Given the description of an element on the screen output the (x, y) to click on. 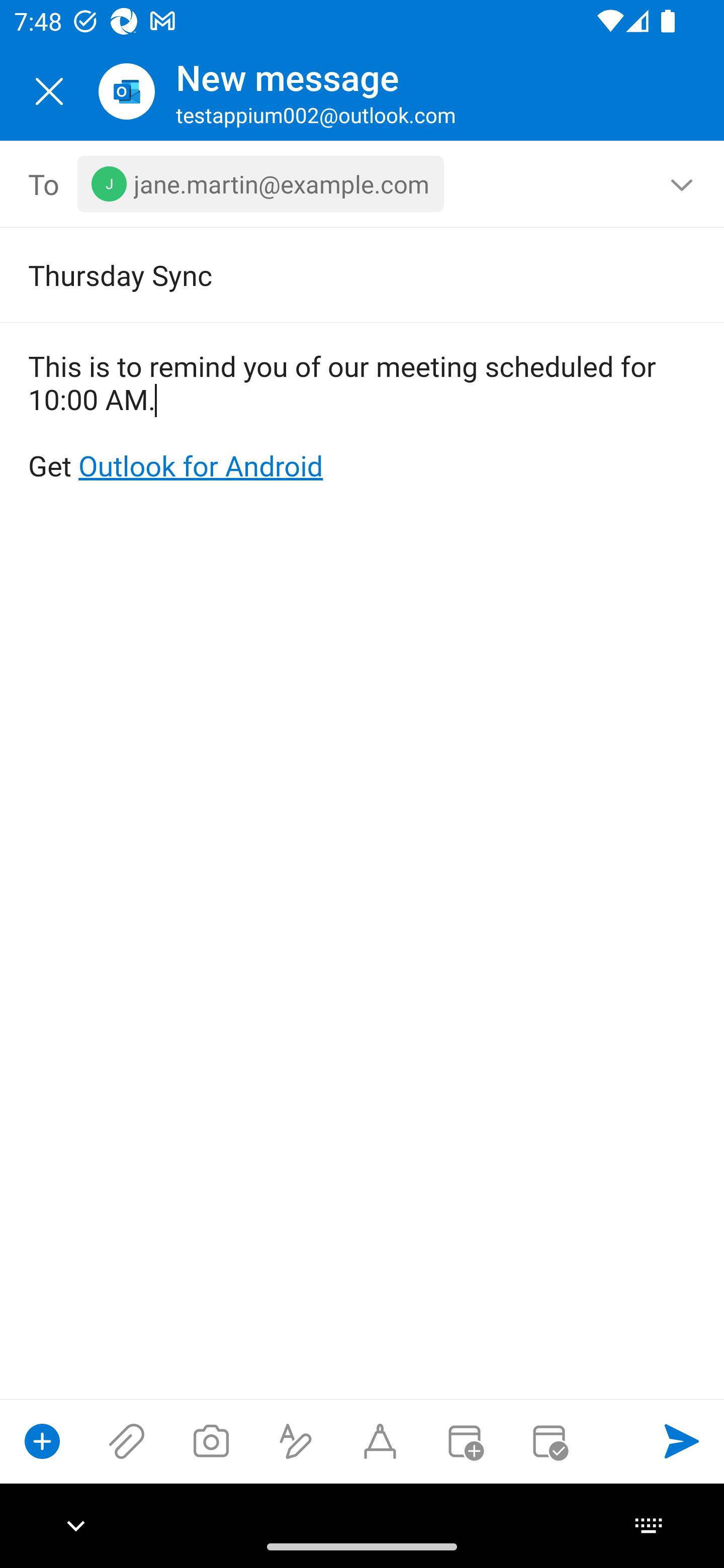
Close (49, 91)
To, 1 recipient <jane.martin@example.com> (362, 184)
Thursday Sync (333, 274)
Show compose options (42, 1440)
Attach files (126, 1440)
Take a photo (210, 1440)
Show formatting options (295, 1440)
Start Ink compose (380, 1440)
Convert to event (464, 1440)
Send availability (548, 1440)
Send (681, 1440)
